Given the description of an element on the screen output the (x, y) to click on. 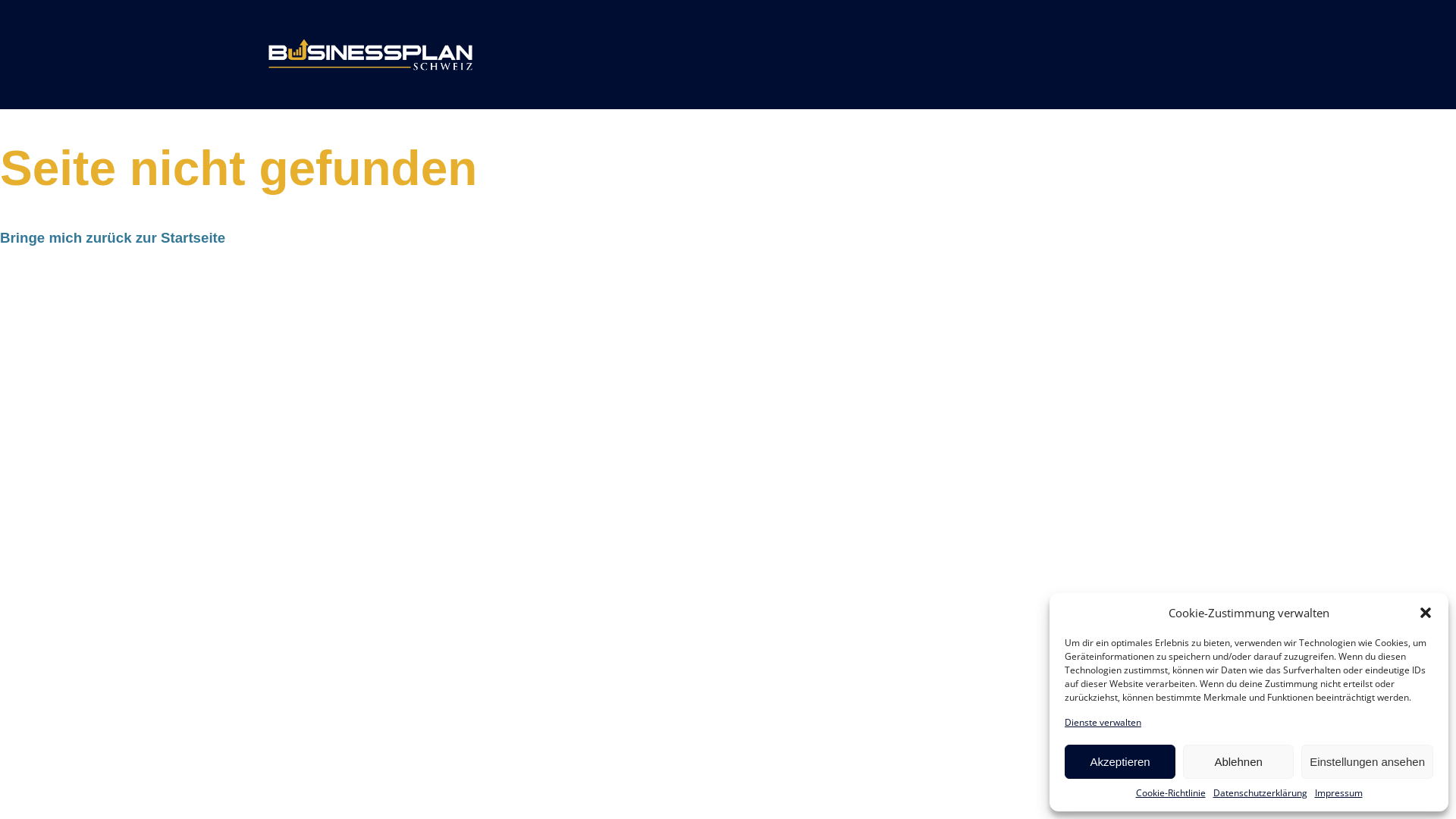
Ablehnen Element type: text (1238, 761)
Impressum Element type: text (1338, 793)
Einstellungen ansehen Element type: text (1367, 761)
Dienste verwalten Element type: text (1102, 722)
Cookie-Richtlinie Element type: text (1170, 793)
Akzeptieren Element type: text (1119, 761)
